Given the description of an element on the screen output the (x, y) to click on. 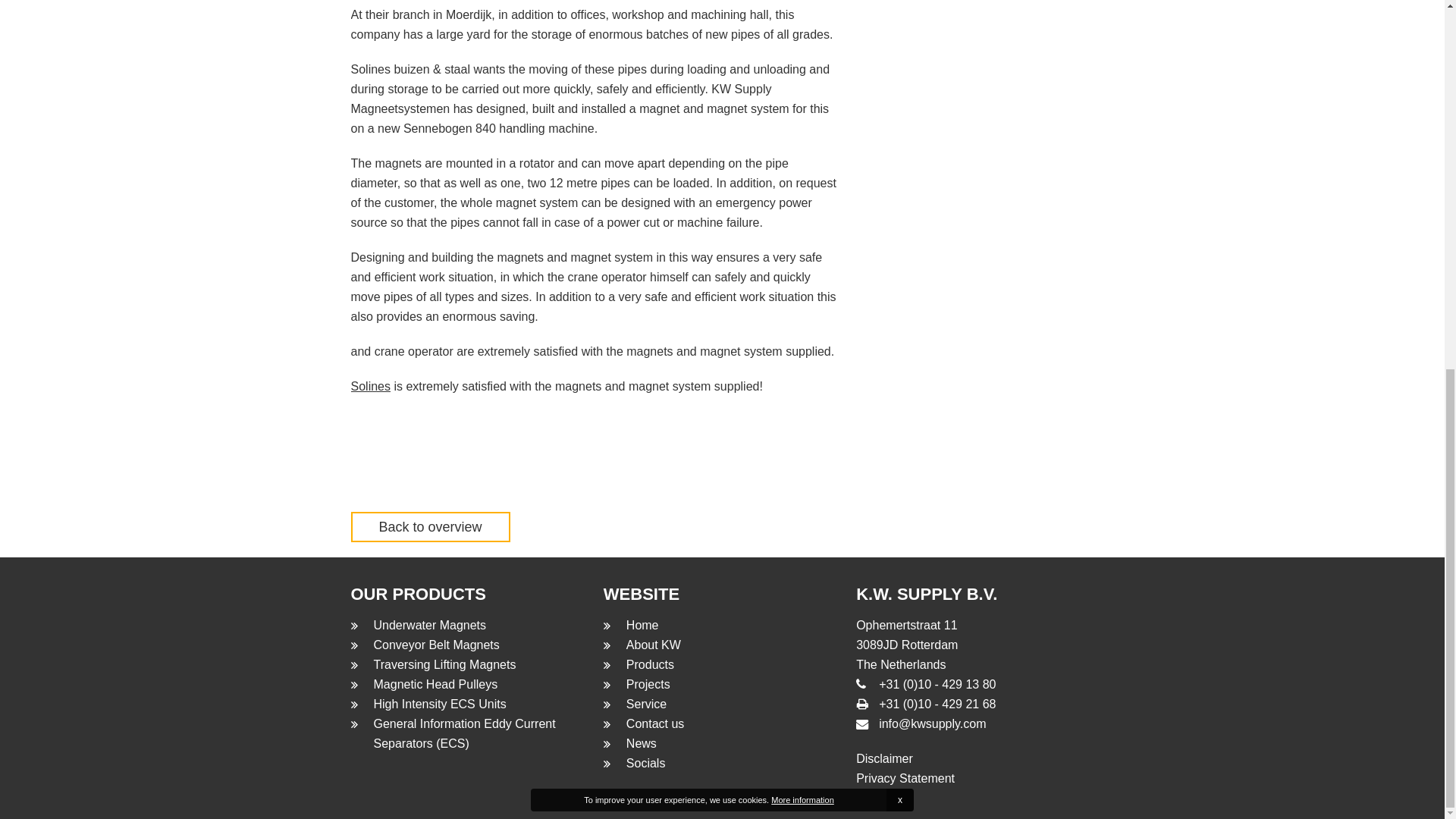
Products (650, 664)
Service (646, 703)
Ophemertstraat 11 (906, 625)
Socials (645, 762)
Conveyor Belt Magnets (435, 644)
News (641, 743)
x (900, 129)
Magnetic Head Pulleys (434, 684)
Projects (647, 684)
Underwater Magnets (429, 625)
Home (642, 625)
Solines (370, 386)
Contact us (655, 723)
More information (802, 130)
Sluiten (900, 129)
